Given the description of an element on the screen output the (x, y) to click on. 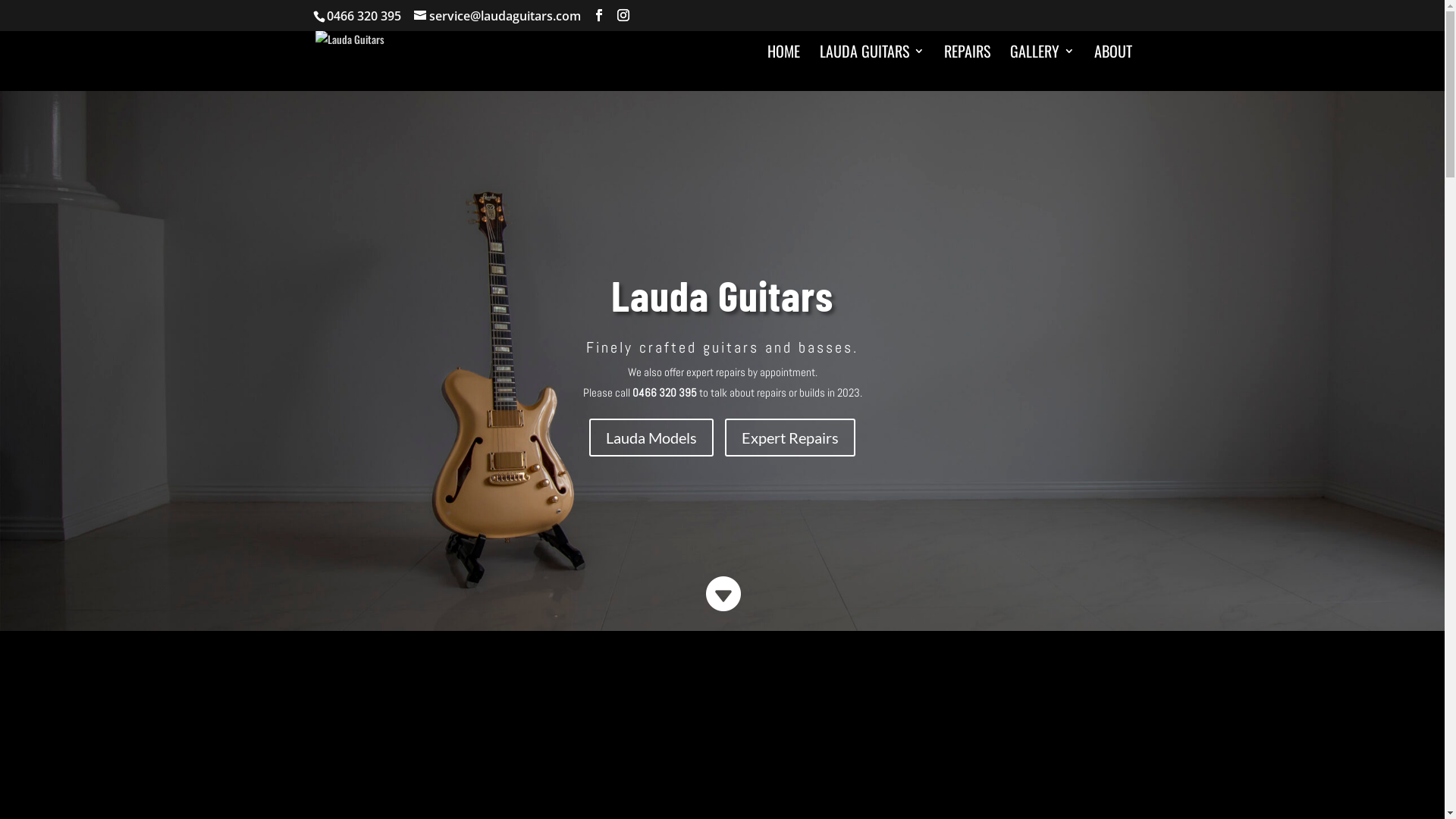
HOME Element type: text (783, 61)
LAUDA GUITARS Element type: text (871, 61)
Expert Repairs Element type: text (789, 437)
GALLERY Element type: text (1042, 61)
REPAIRS Element type: text (966, 61)
service@laudaguitars.com Element type: text (497, 15)
Lauda Models Element type: text (651, 437)
ABOUT Element type: text (1112, 61)
